Given the description of an element on the screen output the (x, y) to click on. 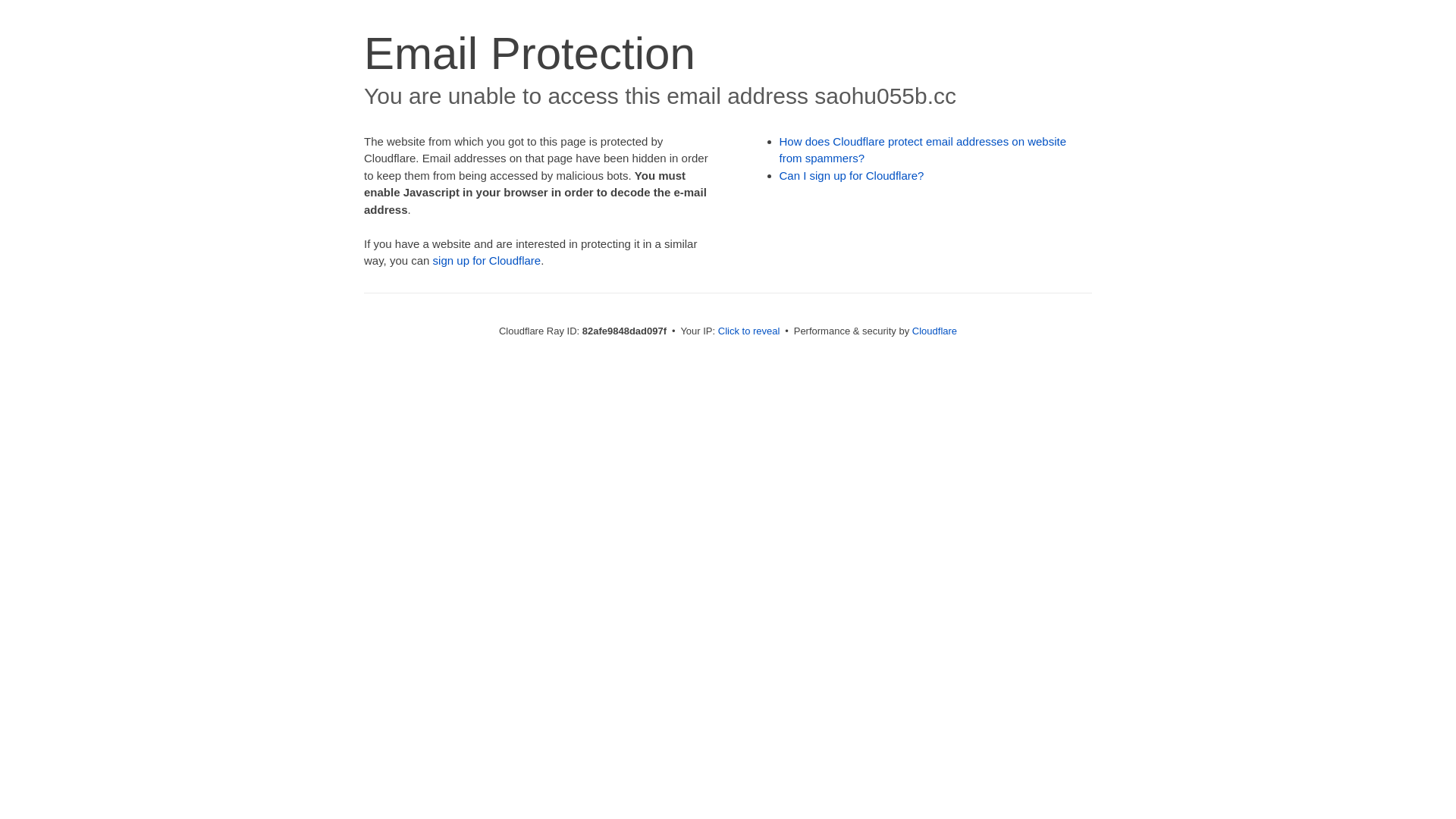
Cloudflare Element type: text (934, 330)
Click to reveal Element type: text (749, 330)
sign up for Cloudflare Element type: text (487, 260)
Can I sign up for Cloudflare? Element type: text (851, 175)
